Given the description of an element on the screen output the (x, y) to click on. 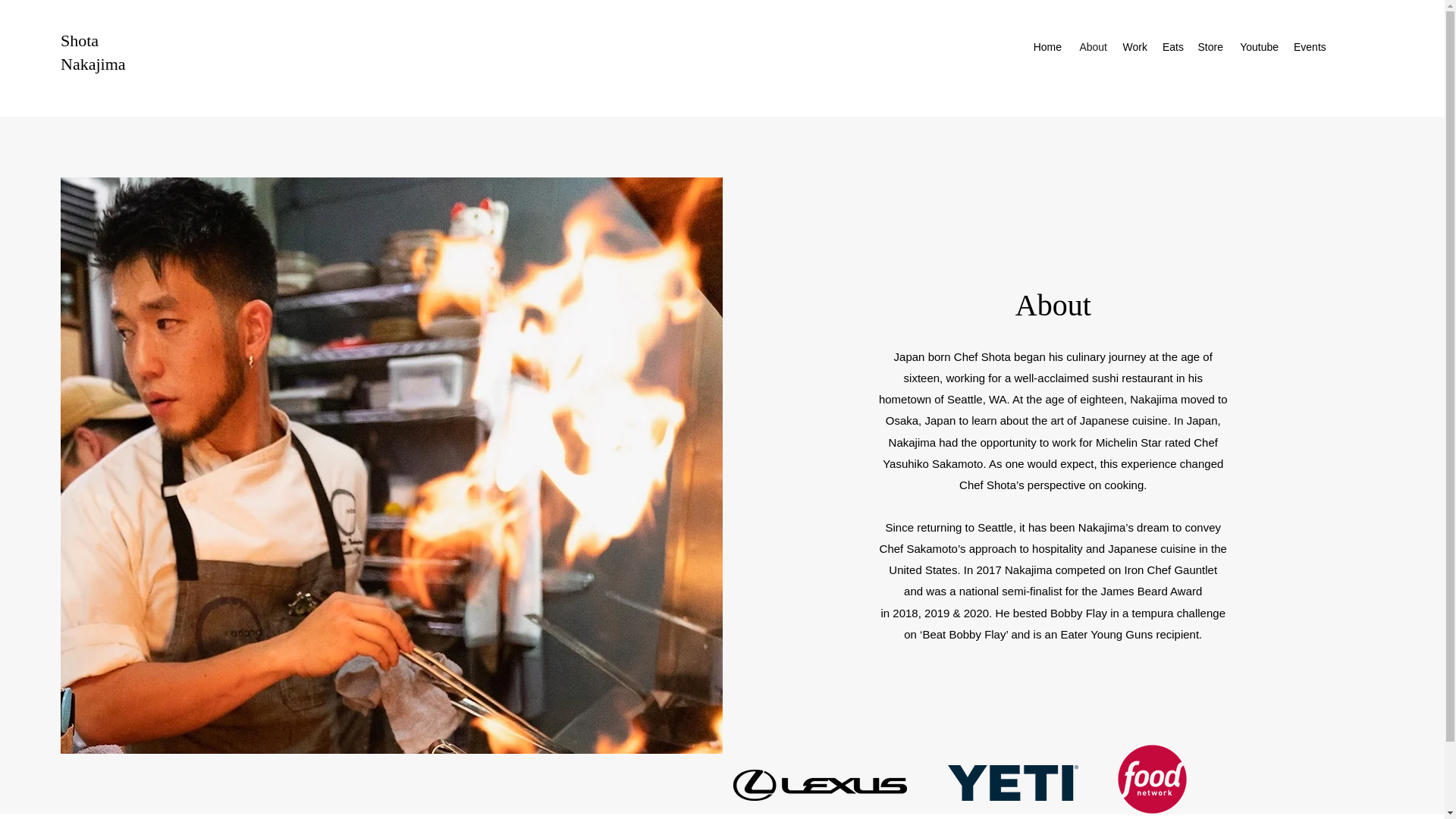
Shota Nakajima (93, 52)
Events (1308, 47)
Home (1046, 47)
Work (1134, 47)
Eats (1171, 47)
Youtube (1257, 47)
About (1091, 47)
Store (1209, 47)
